Given the description of an element on the screen output the (x, y) to click on. 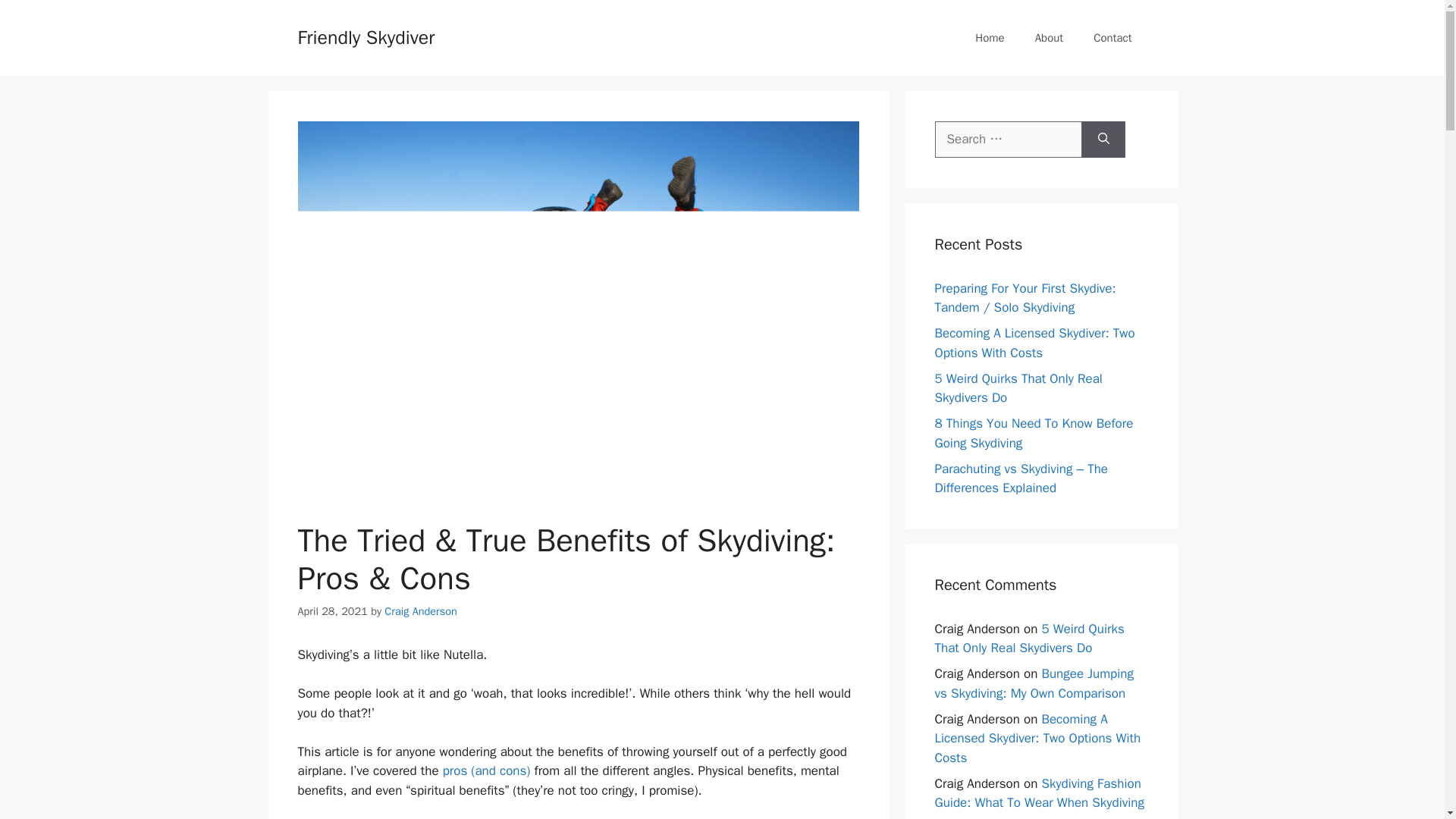
Craig Anderson (420, 611)
About (1049, 37)
Search for: (1007, 139)
Home (989, 37)
Contact (1112, 37)
Becoming A Licensed Skydiver: Two Options With Costs (1034, 343)
8 Things You Need To Know Before Going Skydiving (1033, 433)
Bungee Jumping vs Skydiving: My Own Comparison (1033, 683)
View all posts by Craig Anderson (420, 611)
5 Weird Quirks That Only Real Skydivers Do (1018, 387)
